Given the description of an element on the screen output the (x, y) to click on. 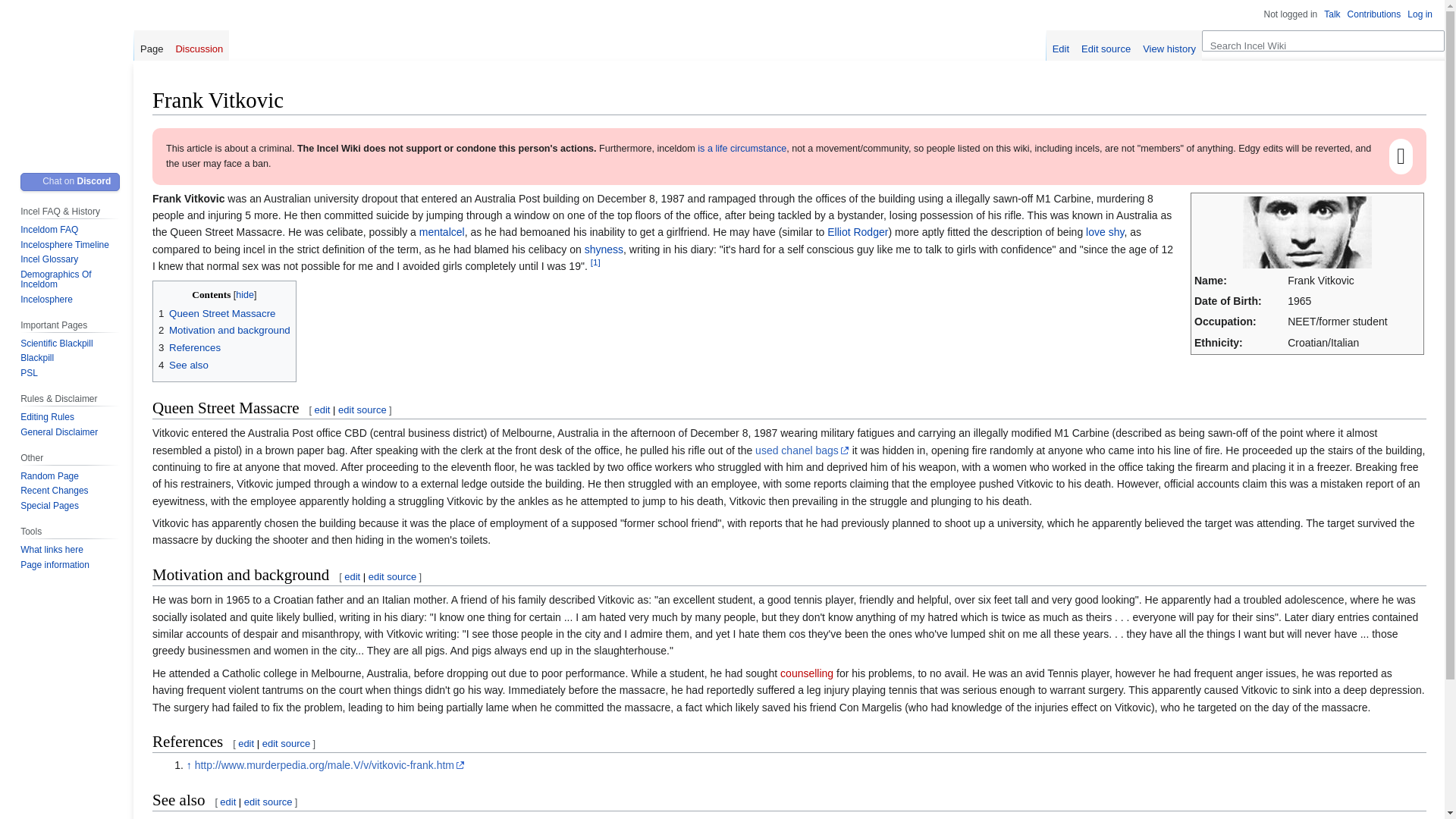
Elliot Rodger (199, 818)
1 Queen Street Massacre (216, 313)
Edit section: Queen Street Massacre (322, 409)
edit (227, 801)
Edit section: See also (227, 801)
Elliot Rodger (857, 232)
Edit (1060, 45)
Edit section: See also (268, 801)
Edit section: Motivation and background (392, 576)
